Given the description of an element on the screen output the (x, y) to click on. 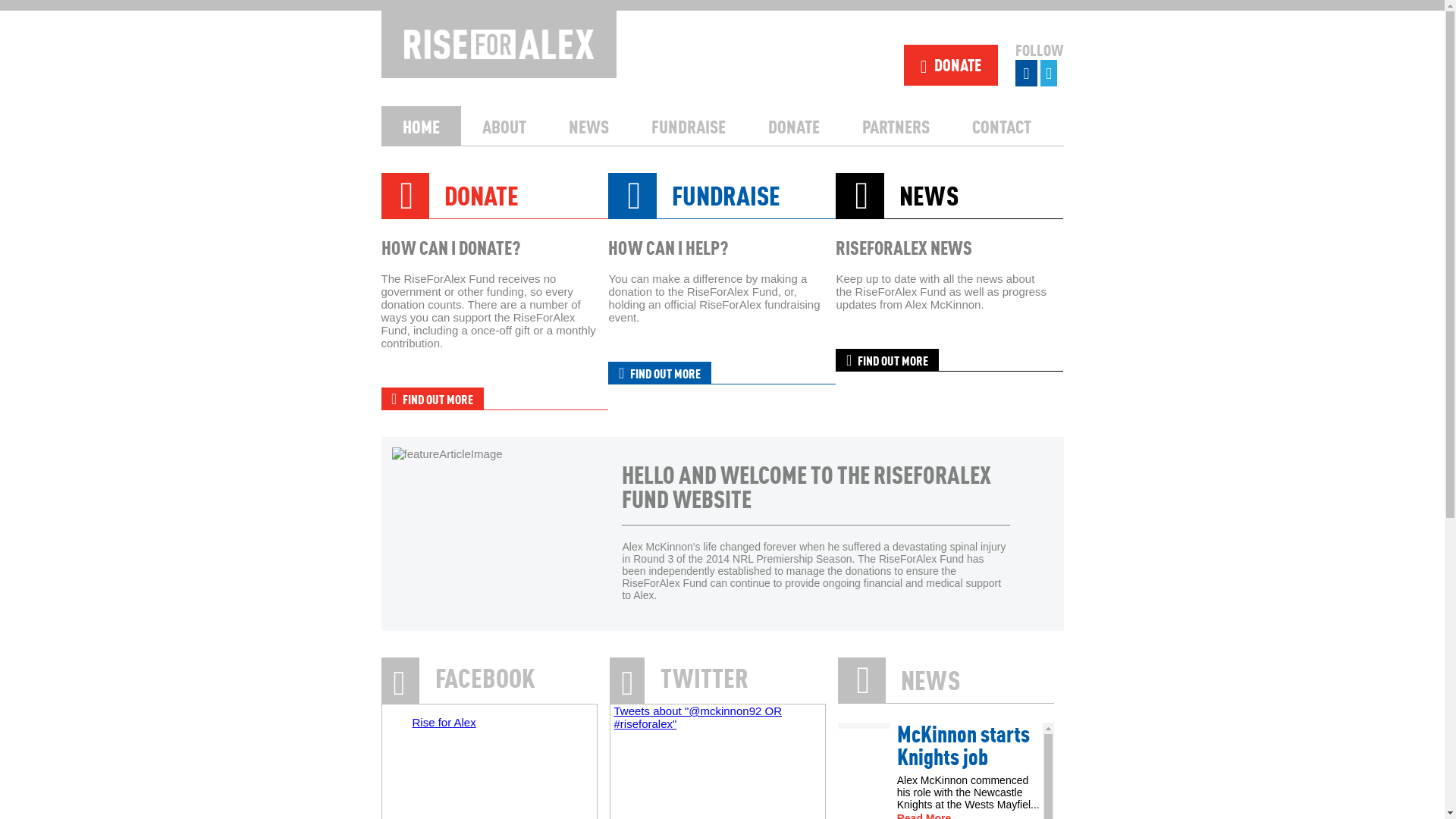
FIND OUT MORE Element type: text (659, 372)
HOME Element type: text (420, 126)
NEWS Element type: text (896, 193)
DONATE Element type: text (950, 64)
Rise for Alex Element type: text (444, 721)
FIND OUT MORE Element type: text (431, 398)
CONTACT Element type: text (1001, 126)
PARTNERS Element type: text (895, 126)
FUNDRAISE Element type: text (693, 193)
FUNDRAISE Element type: text (687, 126)
Tweets about "@mckinnon92 OR #riseforalex" Element type: text (698, 717)
ABOUT Element type: text (504, 126)
FIND OUT MORE Element type: text (886, 359)
DONATE Element type: text (448, 193)
DONATE Element type: text (793, 126)
NEWS Element type: text (588, 126)
McKinnon starts Knights job Element type: text (969, 745)
